Given the description of an element on the screen output the (x, y) to click on. 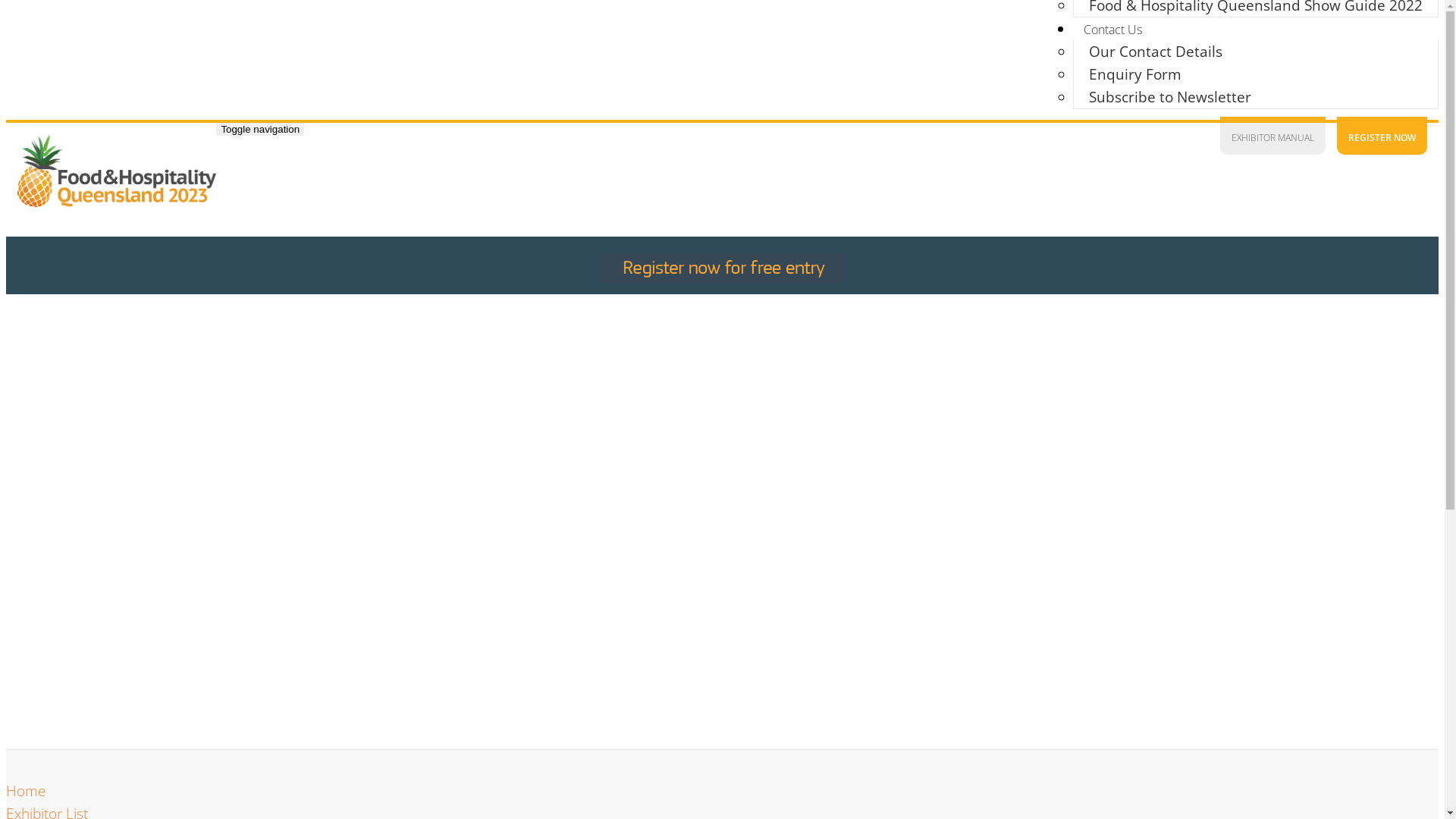
Our Contact Details Element type: text (1155, 51)
REGISTER NOW Element type: text (1381, 135)
Home Element type: text (25, 790)
Subscribe to Newsletter Element type: text (1169, 96)
Enquiry Form Element type: text (1134, 74)
Toggle navigation Element type: text (260, 128)
EXHIBITOR MANUAL Element type: text (1272, 135)
Contact Us Element type: text (1112, 29)
